Given the description of an element on the screen output the (x, y) to click on. 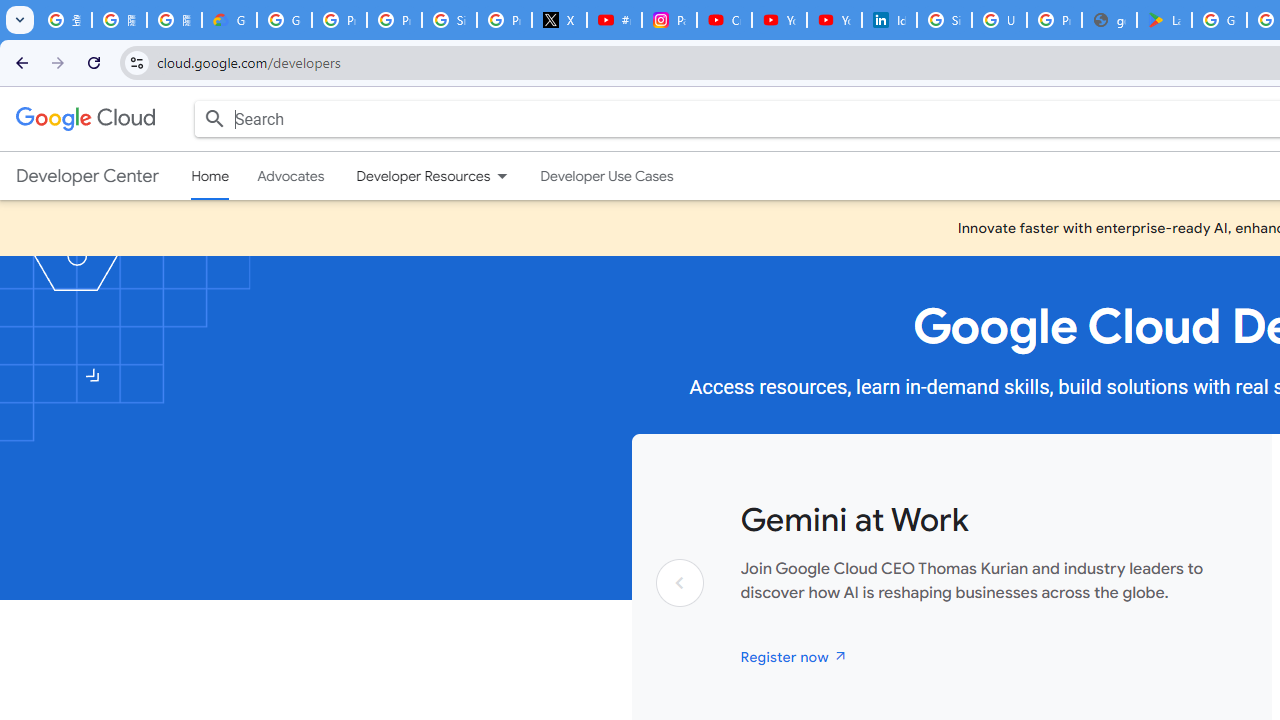
Google Cloud Privacy Notice (229, 20)
